Given the description of an element on the screen output the (x, y) to click on. 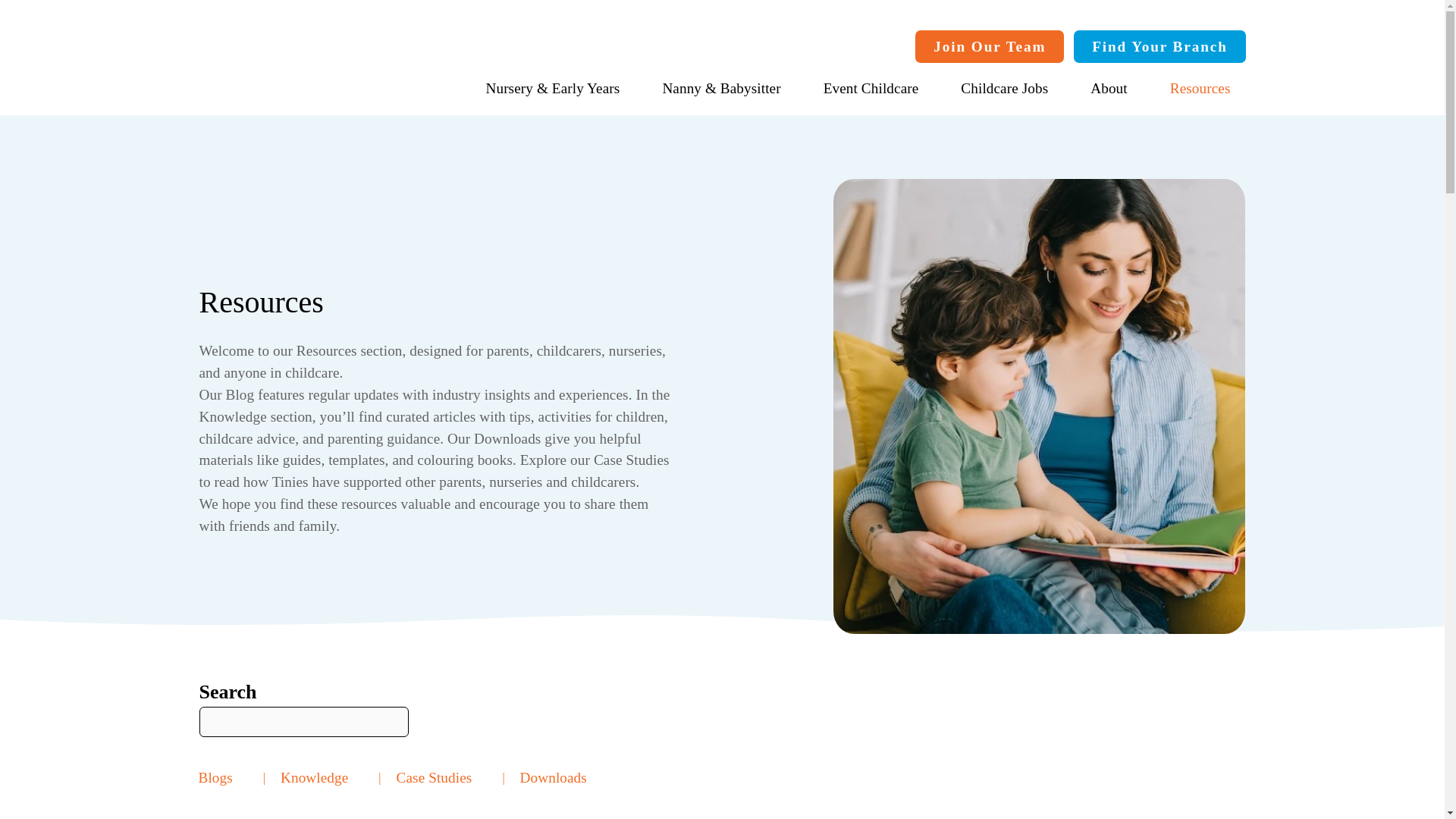
Childcare Jobs (1003, 88)
Resources (1200, 88)
About (1108, 88)
Find Your Branch (1160, 46)
Join Our Team (989, 46)
Event Childcare (871, 88)
